Given the description of an element on the screen output the (x, y) to click on. 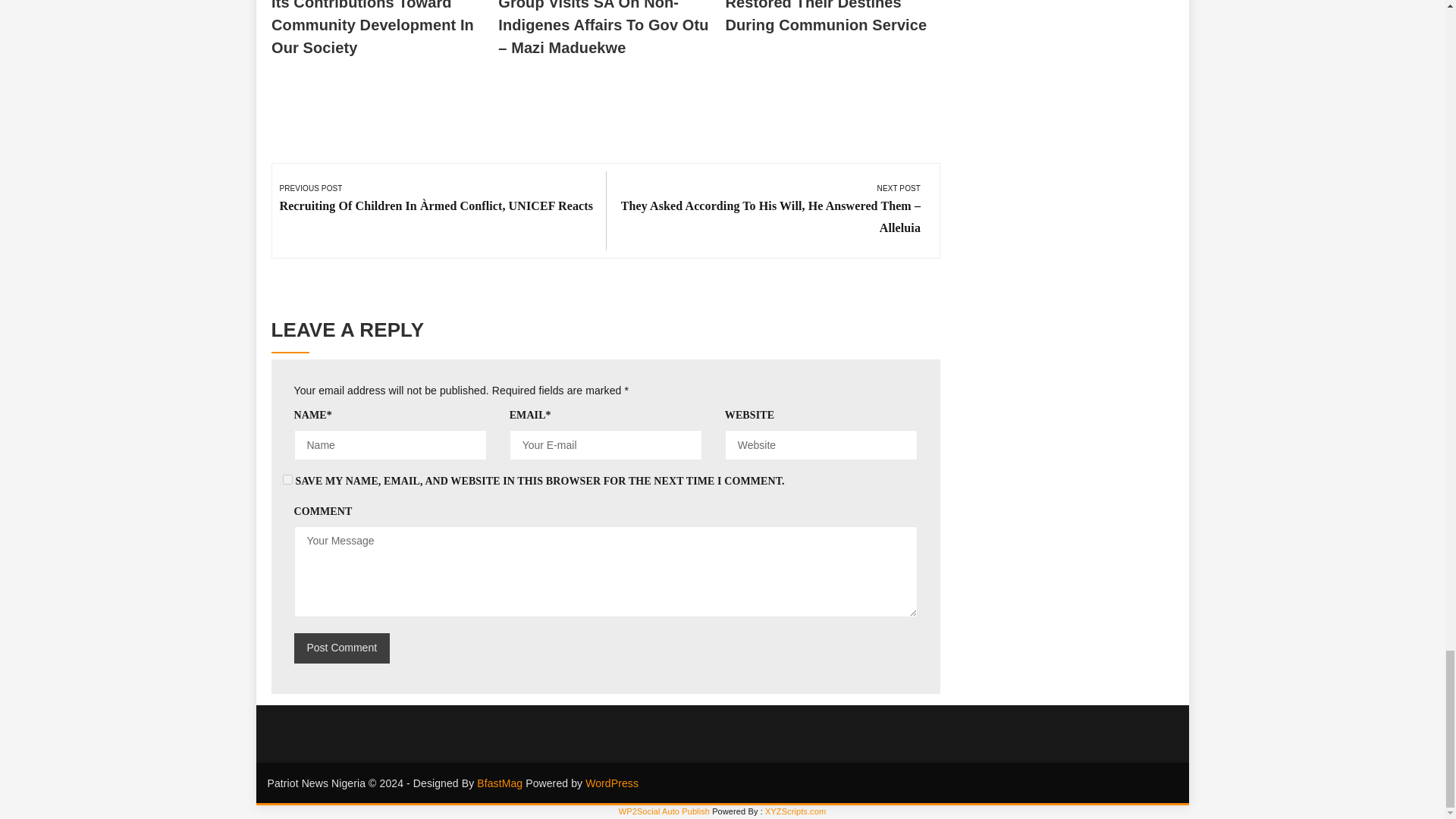
Post Comment (342, 648)
yes (287, 479)
